Given the description of an element on the screen output the (x, y) to click on. 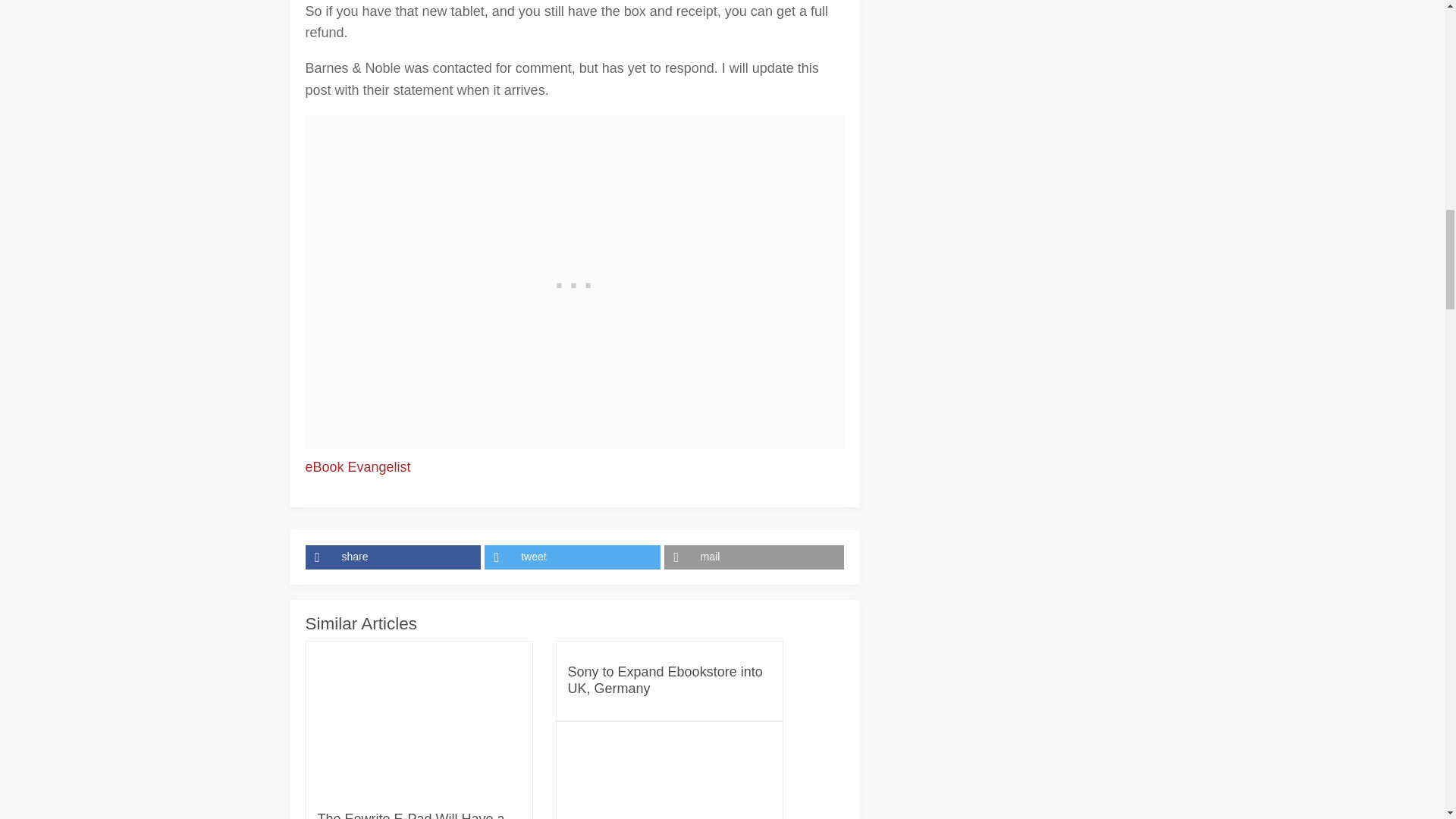
Sony to Expand Ebookstore into UK, Germany (668, 680)
tweet (573, 557)
Sony to Expand Ebookstore into UK, Germany (668, 680)
eBook Evangelist (357, 467)
mail (753, 557)
share (394, 557)
